Given the description of an element on the screen output the (x, y) to click on. 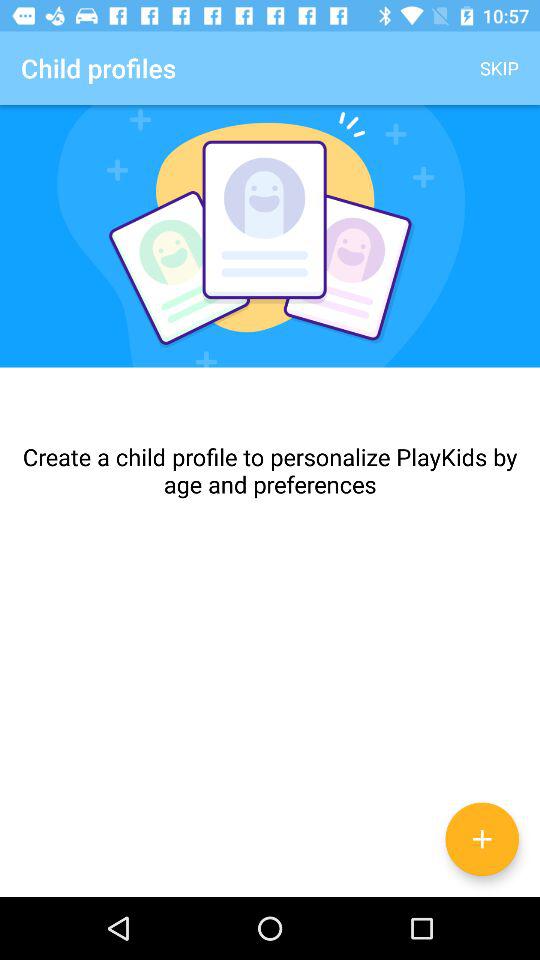
jump to skip icon (499, 67)
